Given the description of an element on the screen output the (x, y) to click on. 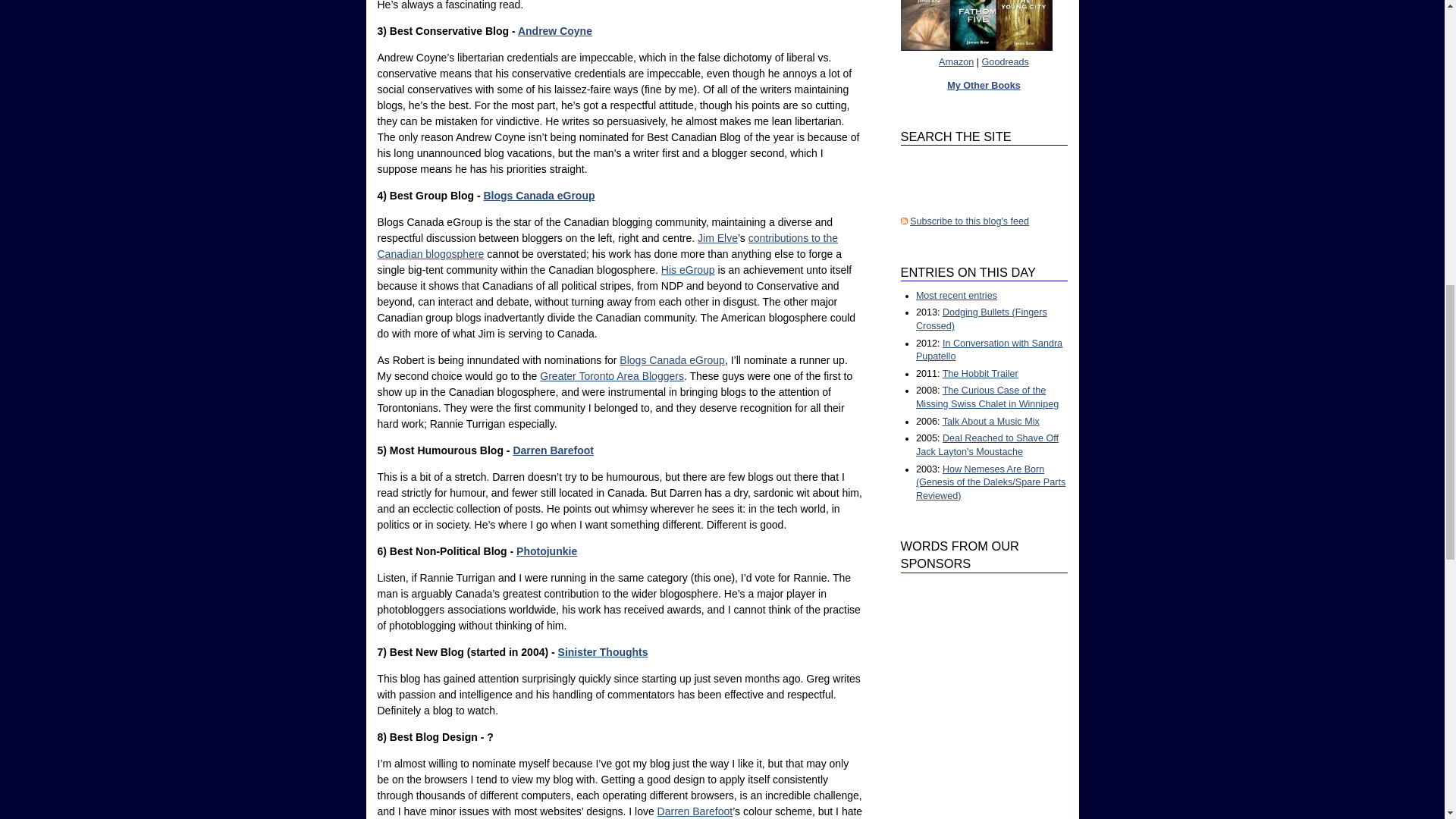
Greater Toronto Area Bloggers (612, 376)
Photojunkie (546, 551)
Darren Barefoot (695, 811)
Darren Barefoot (553, 450)
contributions to the Canadian blogosphere (607, 245)
Andrew Coyne (555, 30)
Blogs Canada eGroup (539, 195)
Blogs Canada eGroup (672, 359)
Sinister Thoughts (602, 652)
His eGroup (687, 269)
